Given the description of an element on the screen output the (x, y) to click on. 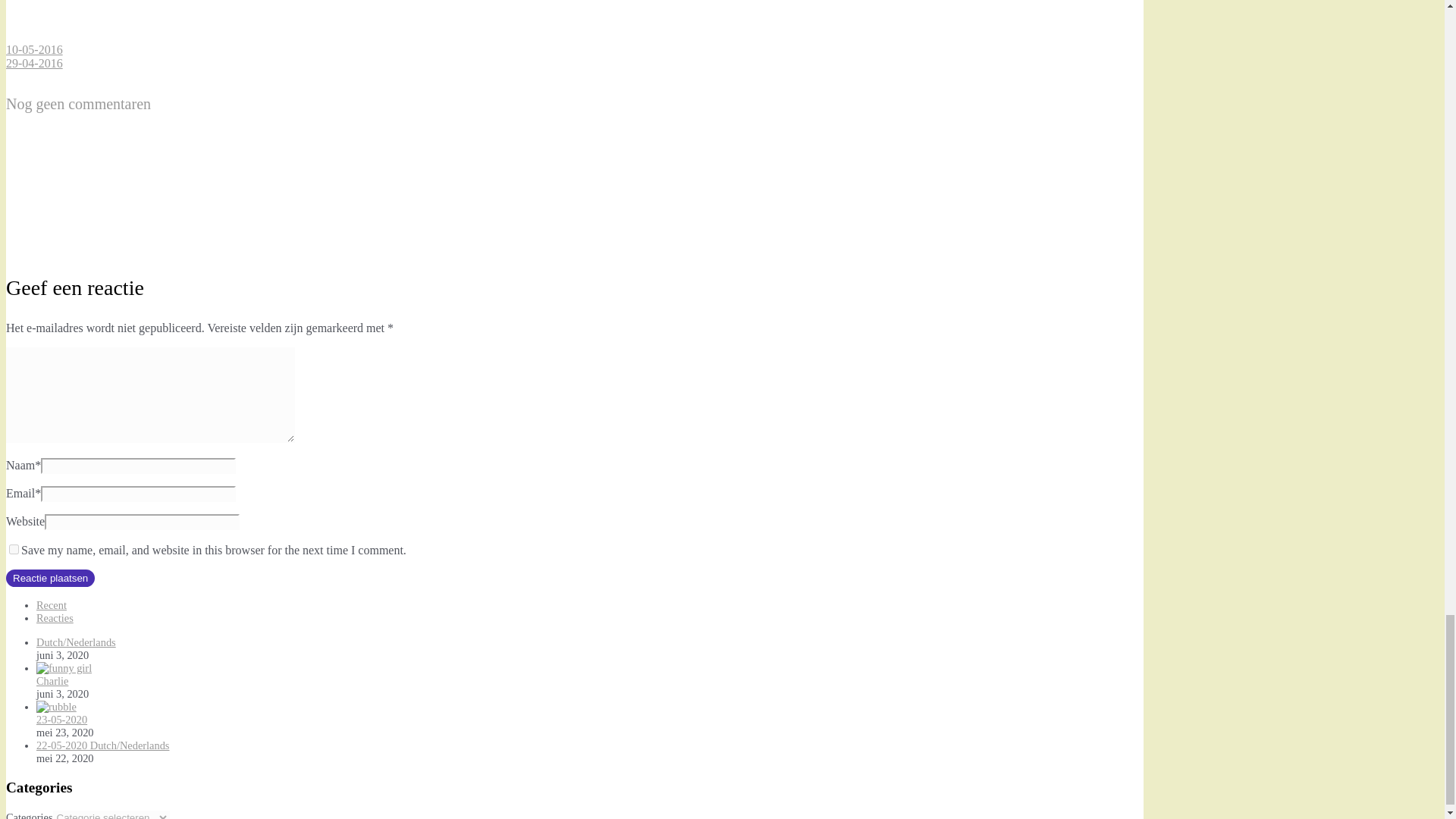
yes (13, 549)
Reactie plaatsen (49, 578)
Reacties volgen (118, 246)
Meer opties (118, 35)
